Given the description of an element on the screen output the (x, y) to click on. 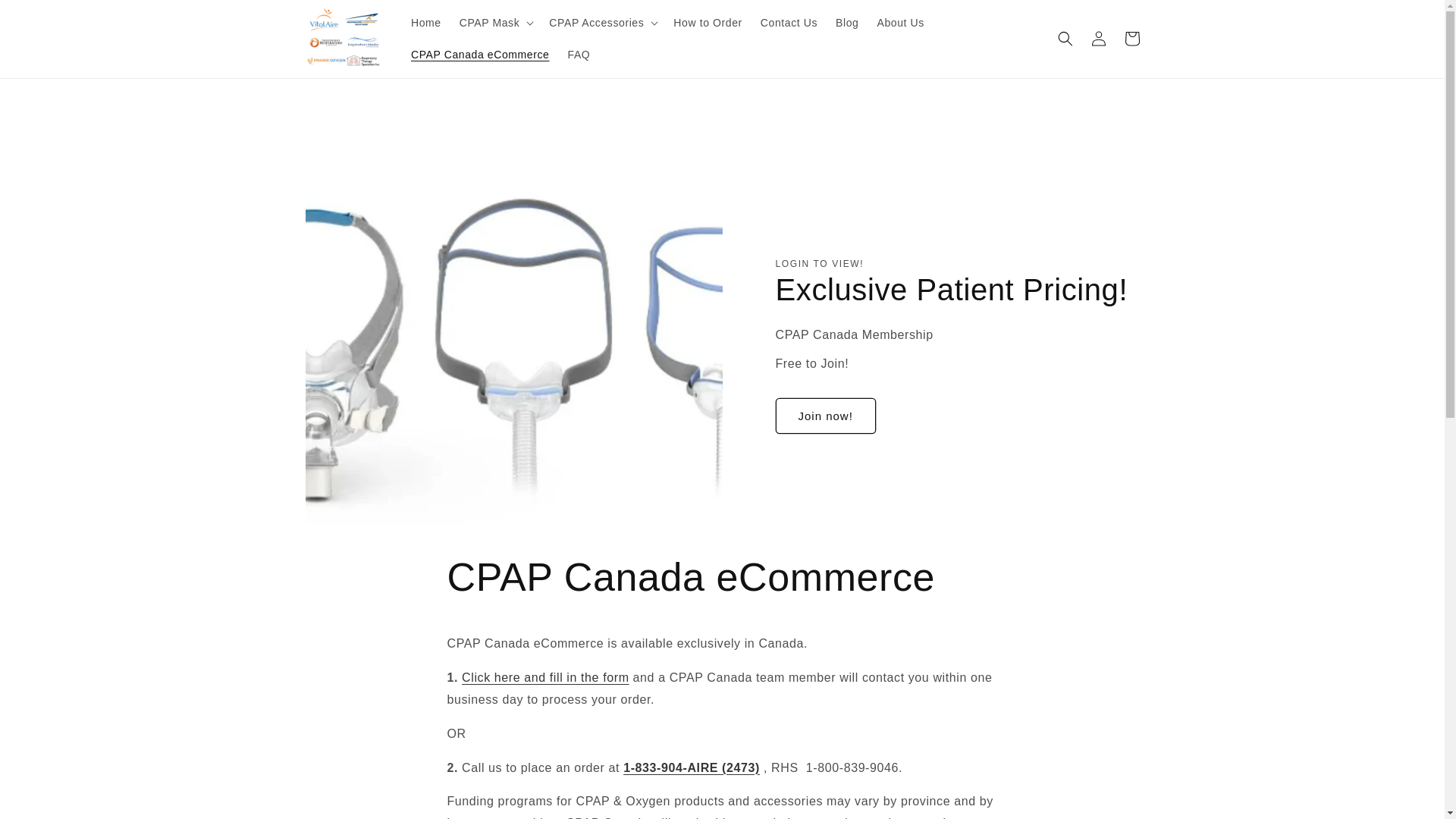
Log in (1098, 38)
How to Order (707, 22)
Blog (847, 22)
Cart (1131, 38)
CPAP Canada eCommerce (480, 54)
FAQ (577, 54)
About Us (900, 22)
Skip to content (45, 17)
Home (425, 22)
Contact Us (789, 22)
